Given the description of an element on the screen output the (x, y) to click on. 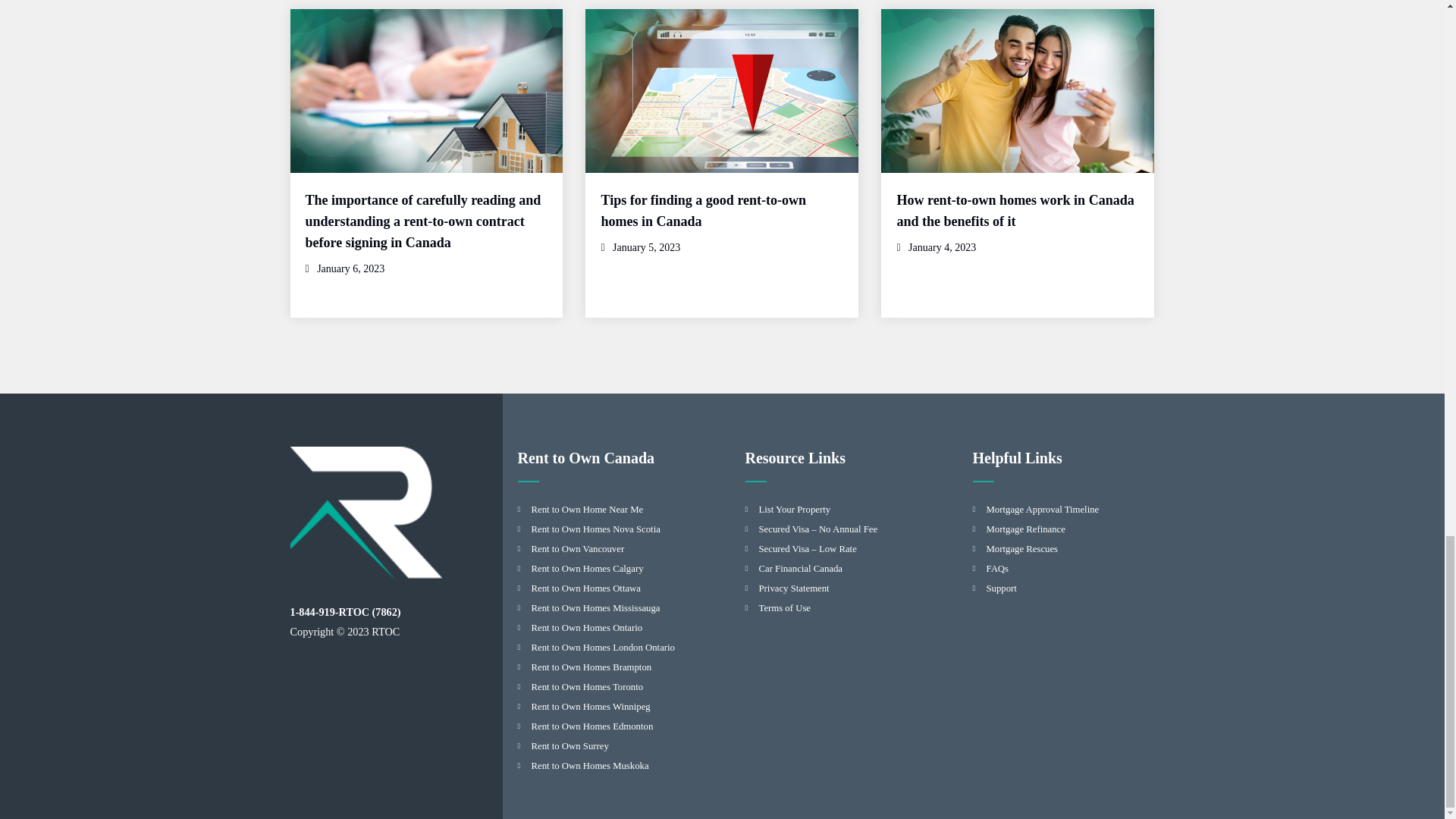
Rent to Own Vancouver (577, 548)
Rent to Own Homes Ottawa (585, 588)
How rent-to-own homes work in Canada and the benefits of it (1015, 210)
Rent to Own Home Near Me (587, 509)
How rent-to-own homes work in Canada and the benefits of it (1015, 210)
Tips for finding a good rent-to-own homes in Canada (702, 210)
Rent to Own Homes Calgary (587, 568)
Rent to Own Homes Mississauga (595, 607)
Rent to Own Homes Nova Scotia (595, 529)
Tips for finding a good rent-to-own homes in Canada (702, 210)
